Given the description of an element on the screen output the (x, y) to click on. 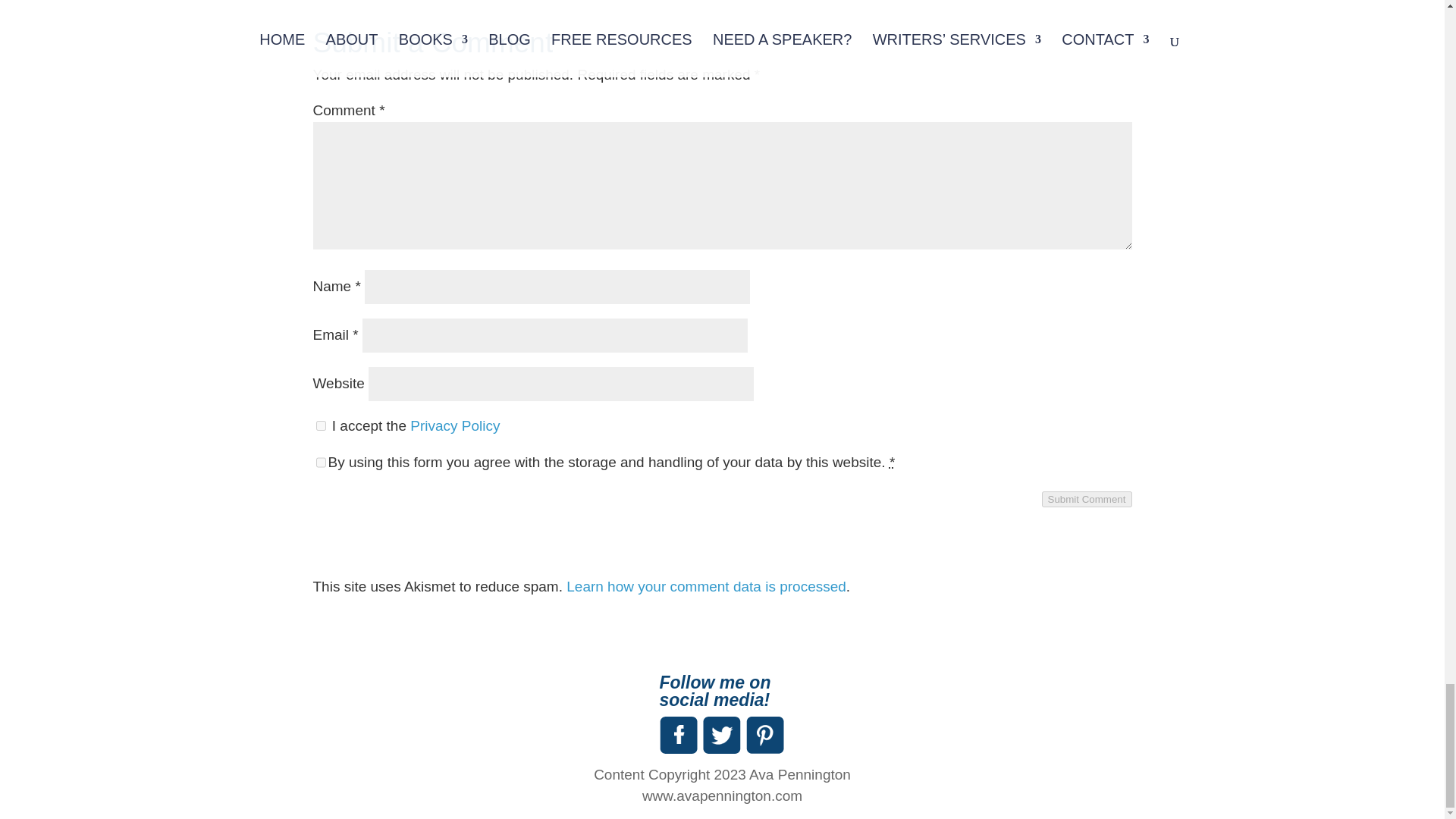
Author Ava Pennington on Pinterest (764, 734)
Author Ava Pennington on Facebook (678, 734)
1 (319, 425)
Author Ava Pennington on Twitter (720, 734)
